Given the description of an element on the screen output the (x, y) to click on. 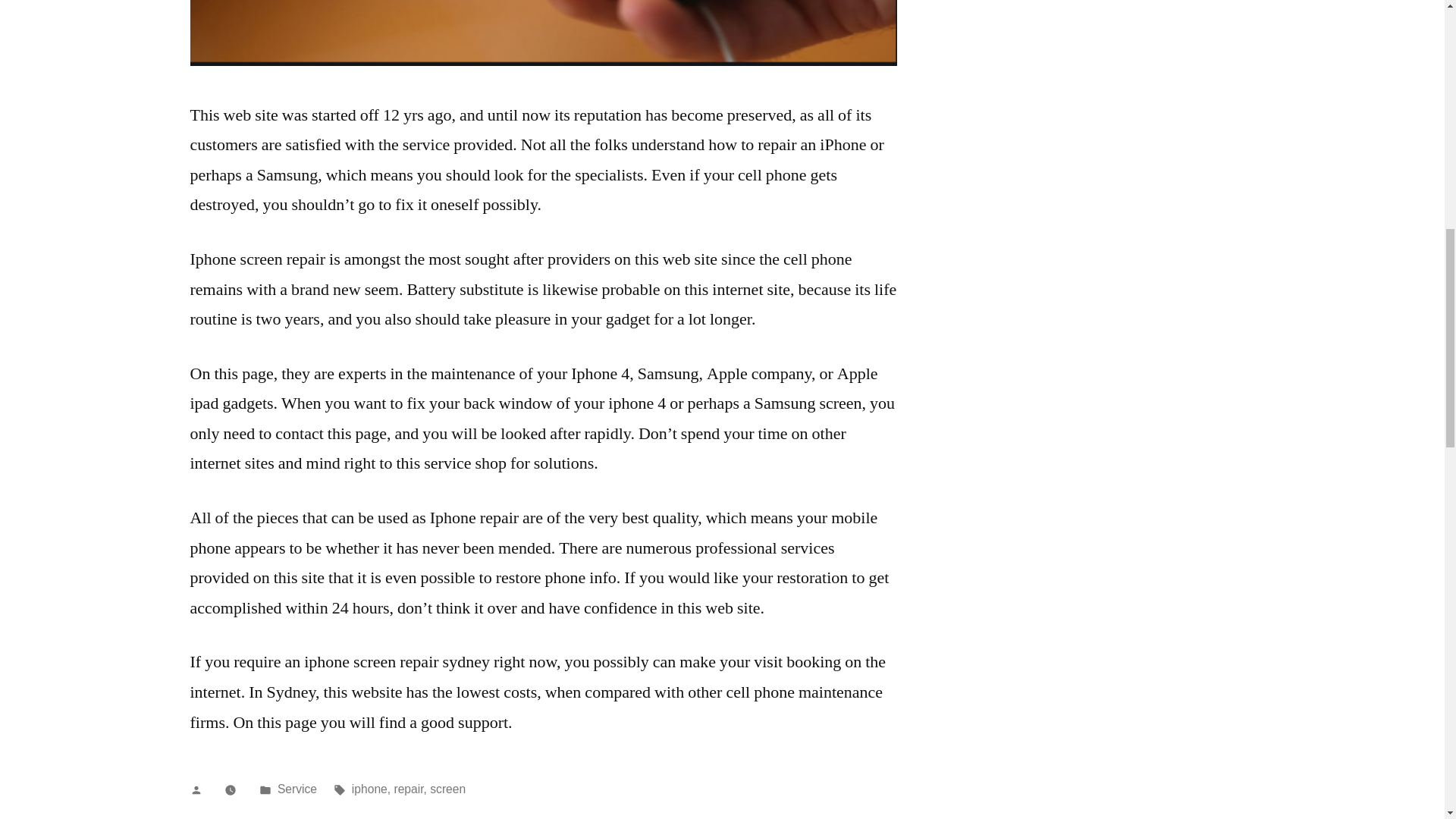
screen (447, 788)
iphone (369, 788)
repair (408, 788)
Service (297, 788)
